Given the description of an element on the screen output the (x, y) to click on. 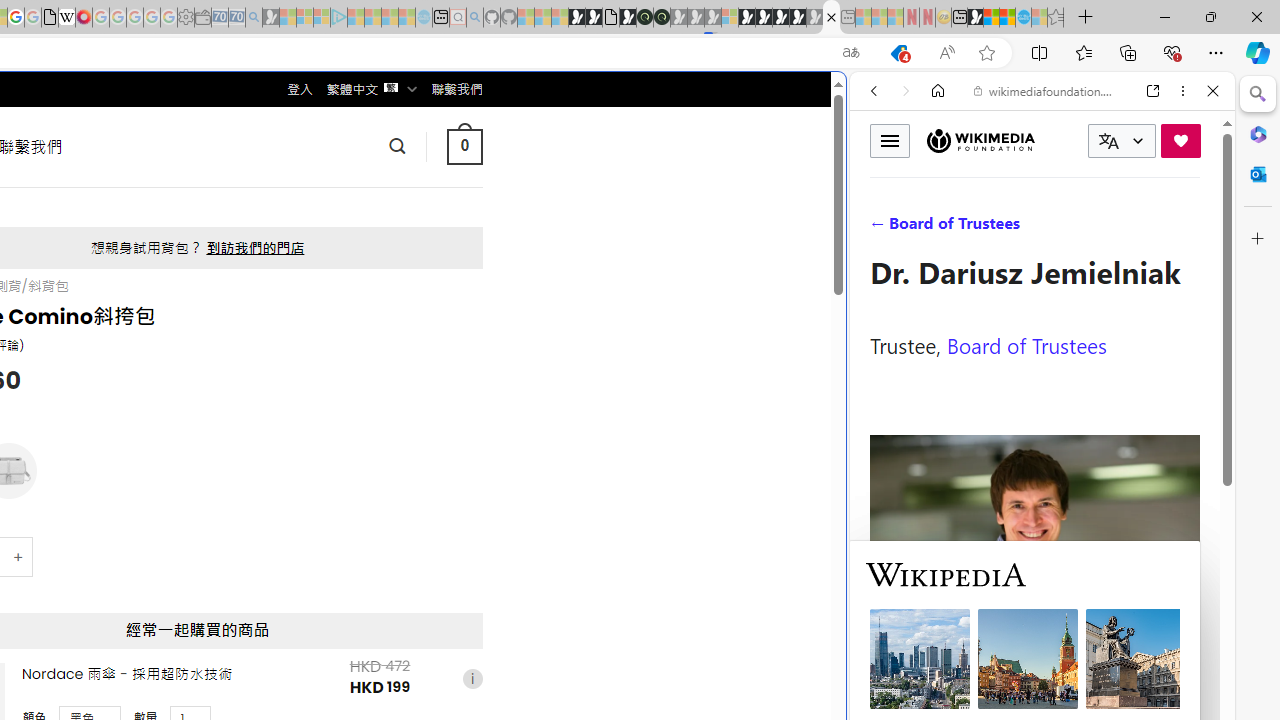
Board of Trustees (1026, 344)
Frequently visited (418, 265)
Wikimedia Foundation (980, 140)
